Given the description of an element on the screen output the (x, y) to click on. 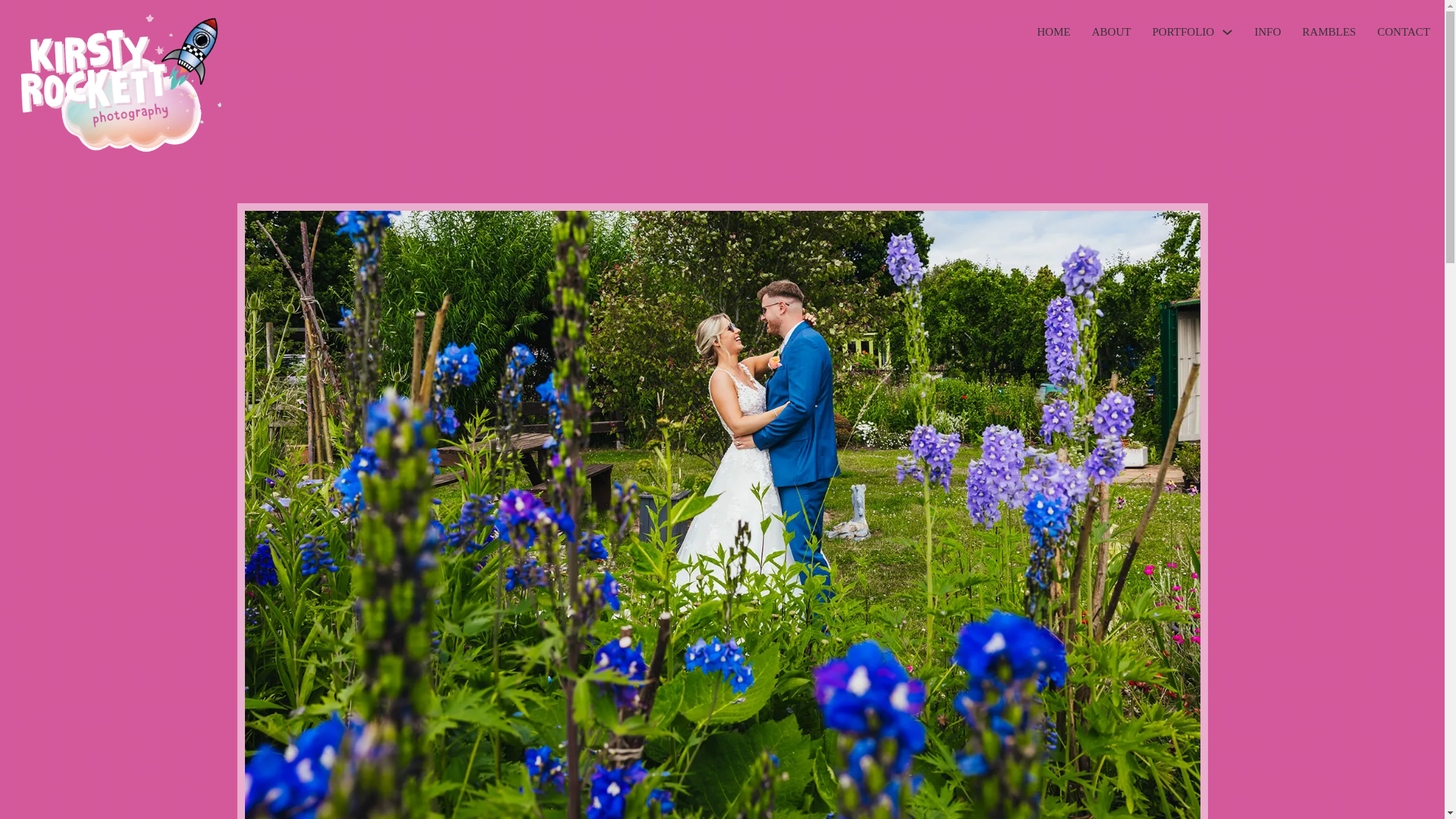
INFO (1267, 32)
CONTACT (1403, 32)
ABOUT (1111, 32)
HOME (1053, 32)
PORTFOLIO (1183, 32)
RAMBLES (1328, 32)
